Given the description of an element on the screen output the (x, y) to click on. 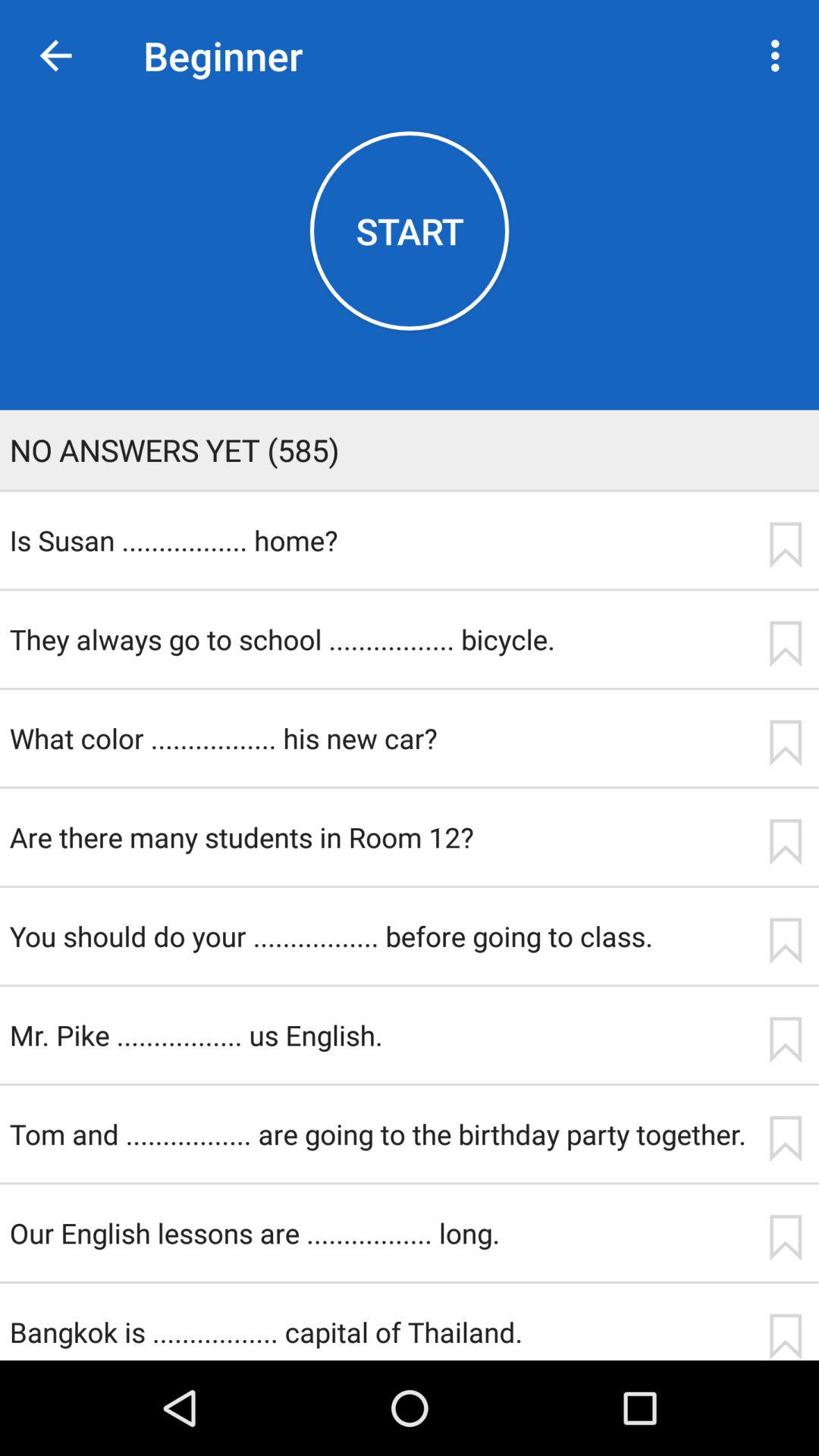
bookmark (784, 940)
